Given the description of an element on the screen output the (x, y) to click on. 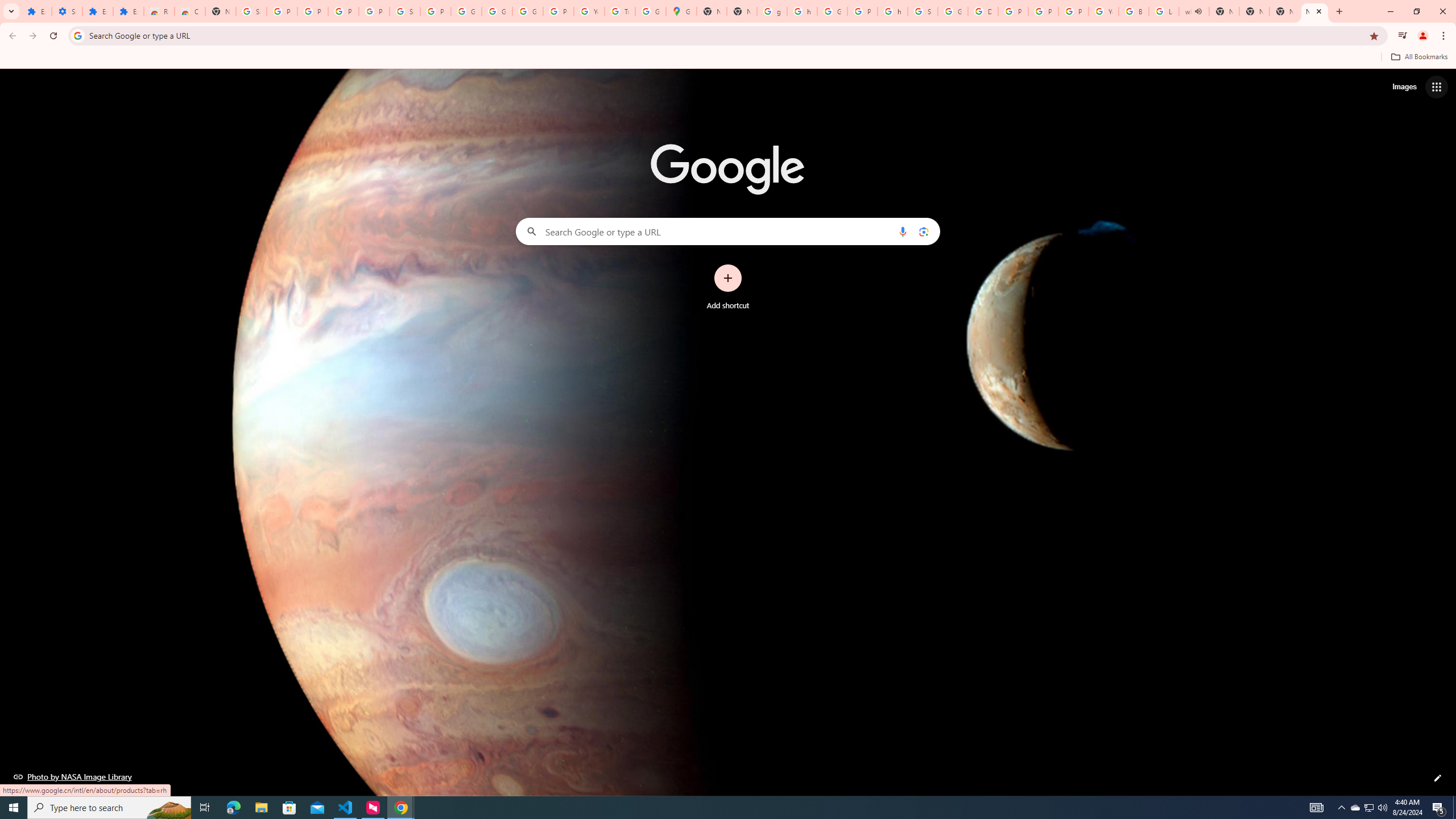
Sign in - Google Accounts (251, 11)
Privacy Help Center - Policies Help (1012, 11)
